Given the description of an element on the screen output the (x, y) to click on. 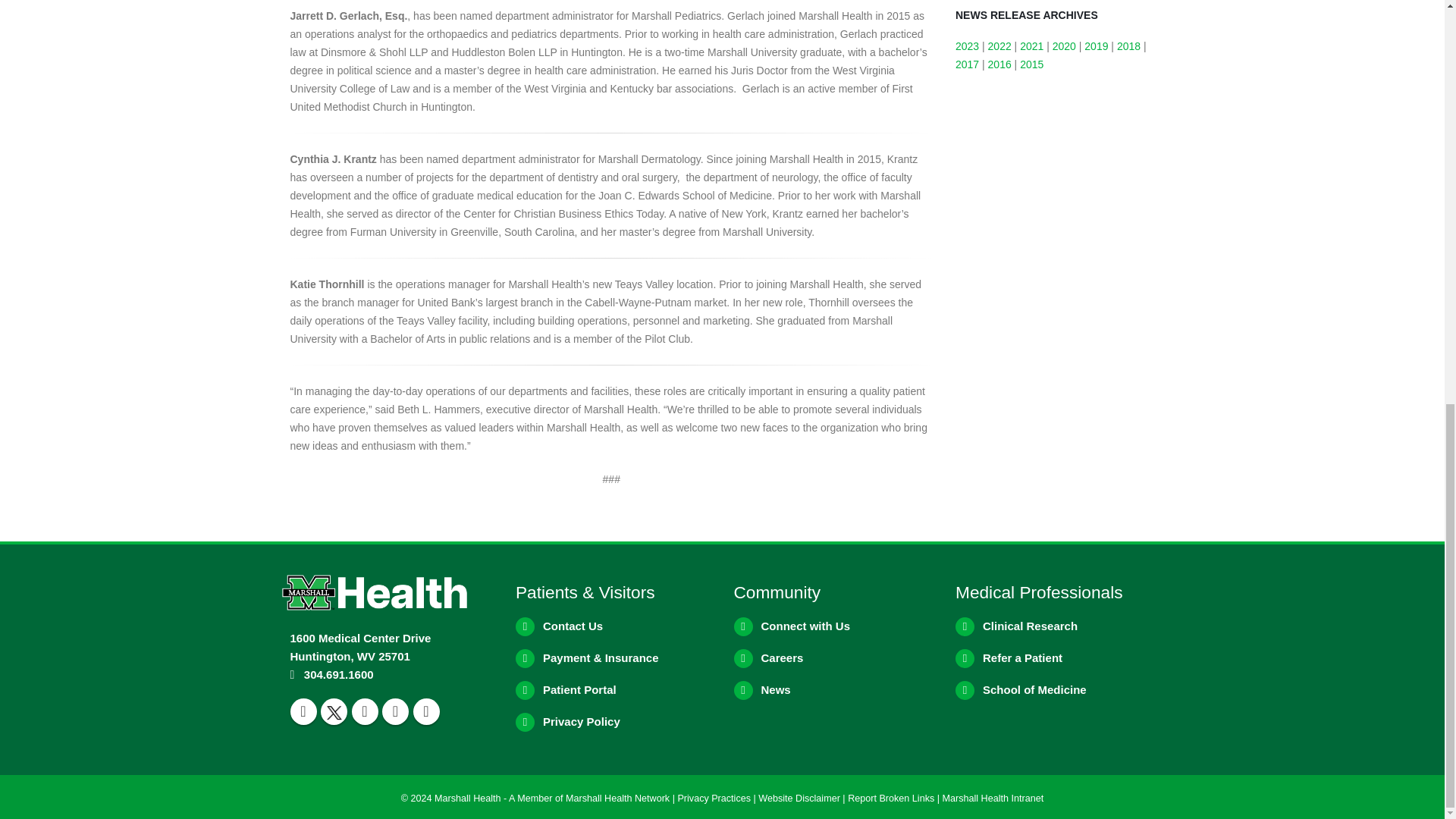
Twitter (333, 711)
2017 (966, 64)
2015 (1031, 64)
2020 (1063, 46)
2018 (1128, 46)
YouTube (365, 711)
2022 (999, 46)
Linkedin (425, 711)
2019 (1096, 46)
Instagram (395, 711)
